Given the description of an element on the screen output the (x, y) to click on. 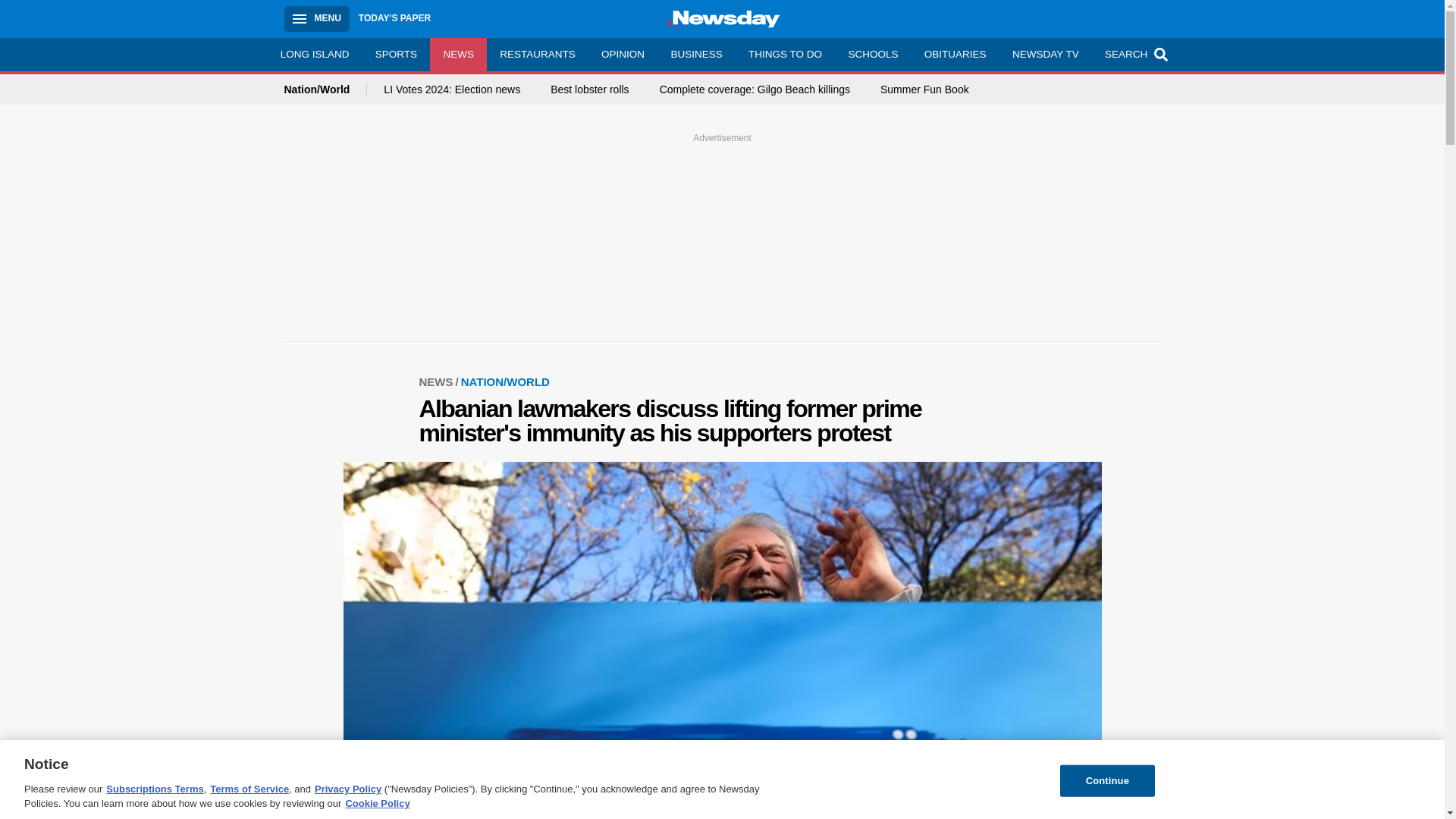
LONG ISLAND (313, 54)
NEWS (457, 54)
SCHOOLS (872, 54)
Summer Fun Book (924, 89)
BUSINESS (696, 54)
NEWS (439, 381)
OBITUARIES (954, 54)
THINGS TO DO (784, 54)
MENU (316, 18)
Complete coverage: Gilgo Beach killings (754, 89)
SEARCH (1134, 54)
NEWSDAY TV (1045, 54)
SPORTS (396, 54)
RESTAURANTS (537, 54)
OPINION (623, 54)
